Given the description of an element on the screen output the (x, y) to click on. 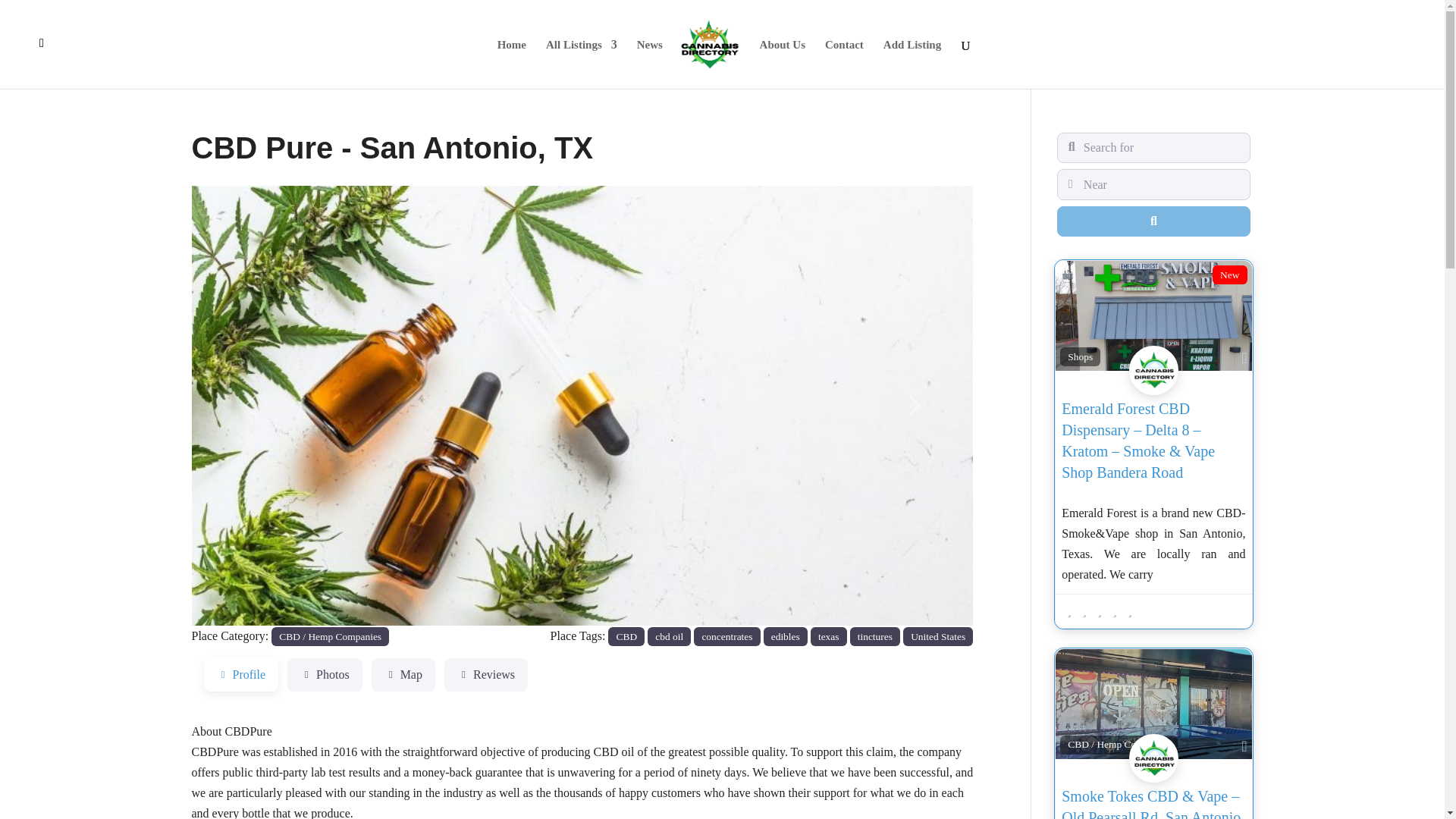
Photos (324, 674)
tinctures (874, 636)
About Us (782, 63)
Profile (240, 674)
Previous (249, 405)
Map (403, 674)
Next (915, 405)
Profile (240, 674)
CBD (626, 636)
Add Listing (911, 63)
edibles (785, 636)
News (649, 63)
Home (511, 63)
Reviews (485, 674)
cbd oil (668, 636)
